Given the description of an element on the screen output the (x, y) to click on. 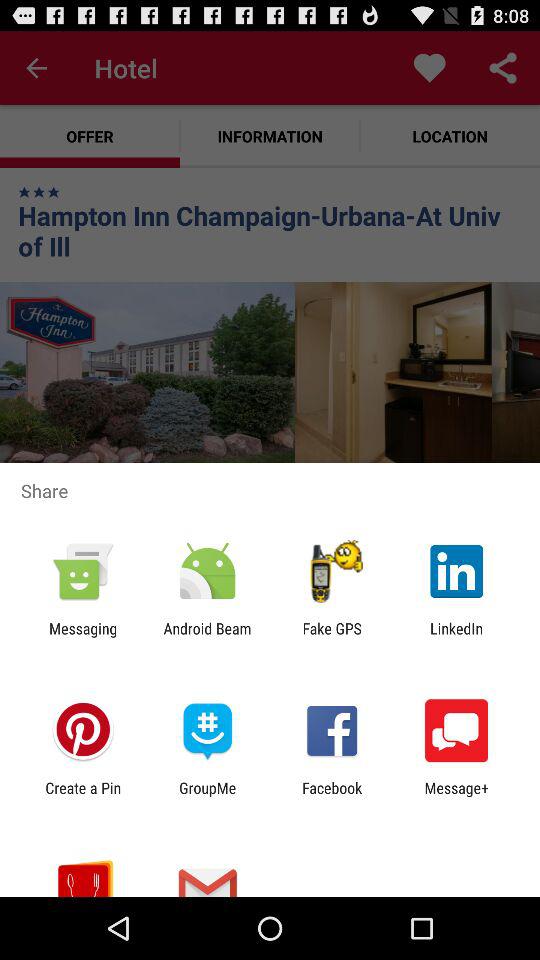
turn off item next to message+ item (332, 796)
